Given the description of an element on the screen output the (x, y) to click on. 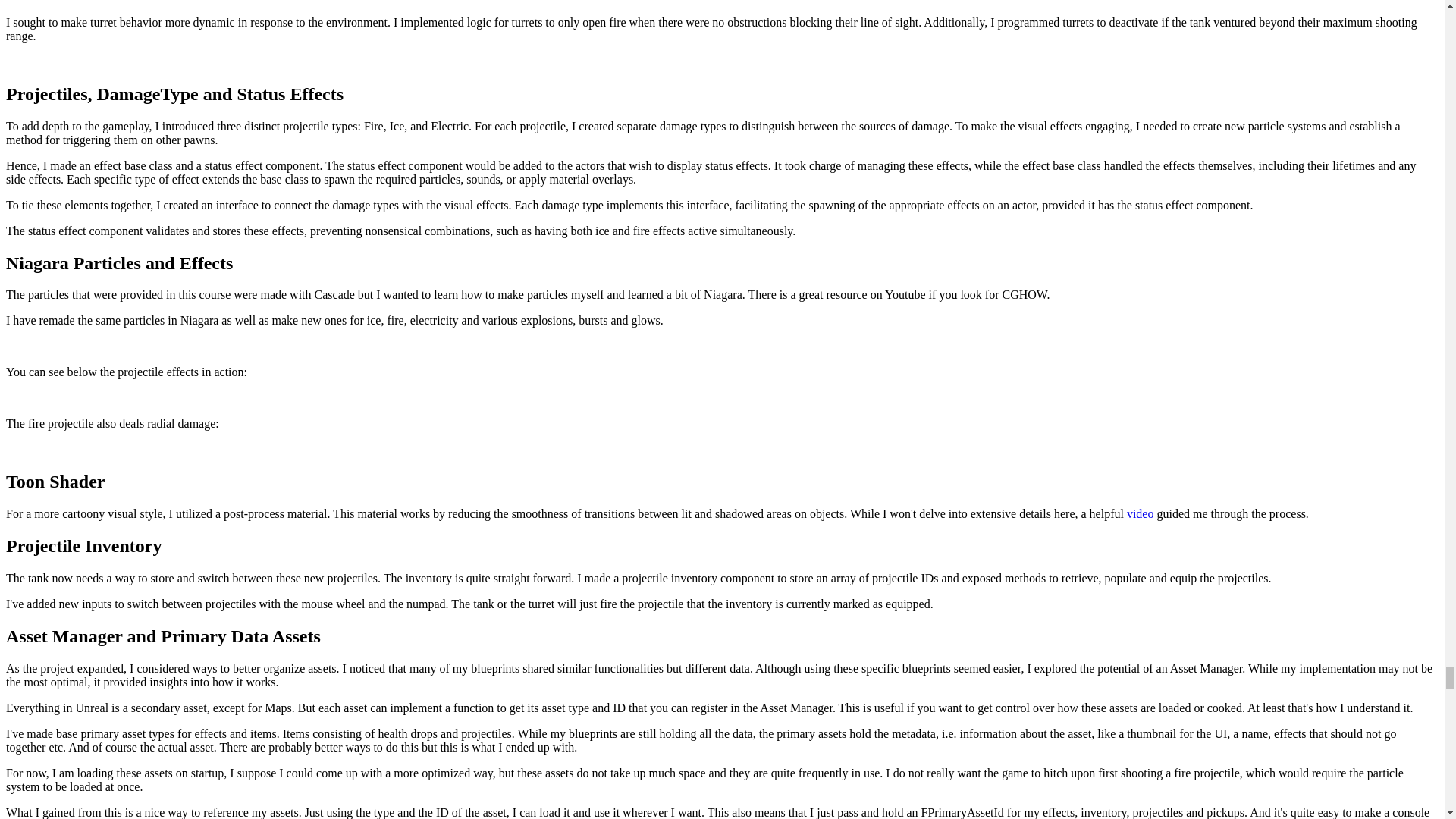
video (1140, 513)
